Given the description of an element on the screen output the (x, y) to click on. 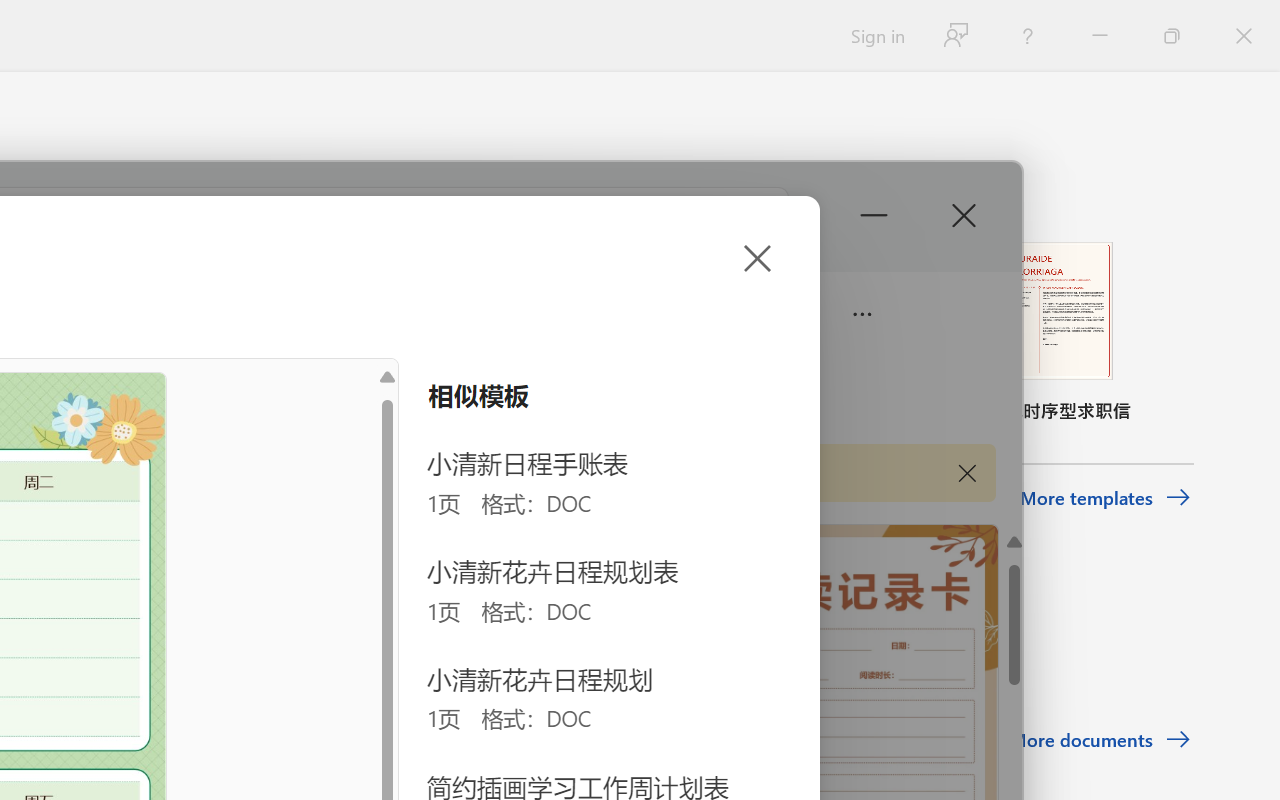
Sign in (875, 35)
